Given the description of an element on the screen output the (x, y) to click on. 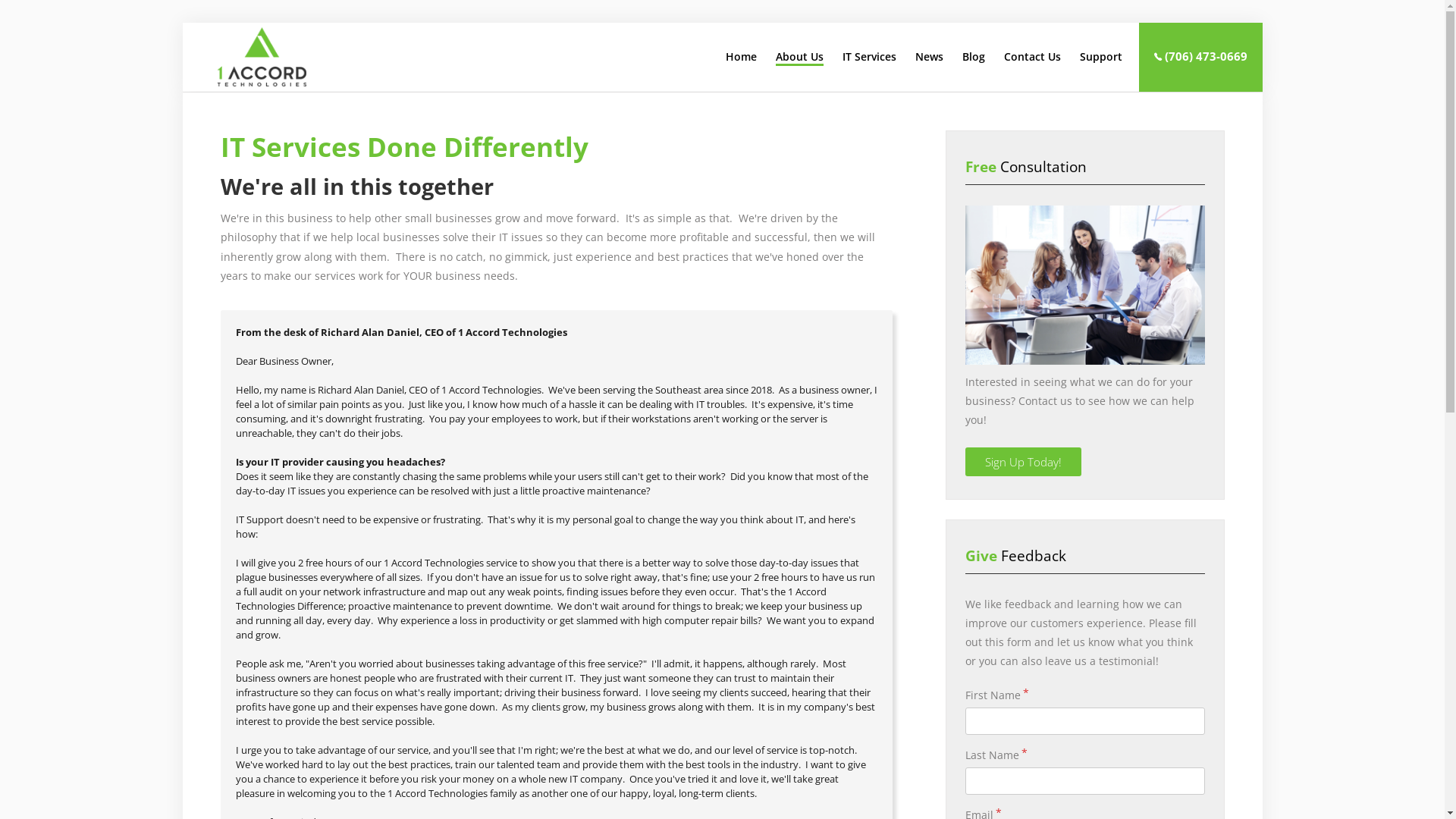
IT Services Element type: text (868, 56)
About Us Element type: text (798, 56)
News Element type: text (928, 56)
 (706) 473-0669 Element type: text (1200, 56)
Contact Us Element type: text (1031, 56)
Blog Element type: text (973, 56)
Home Element type: text (740, 56)
Sign Up Today! Element type: text (1023, 461)
Support Element type: text (1099, 56)
